Given the description of an element on the screen output the (x, y) to click on. 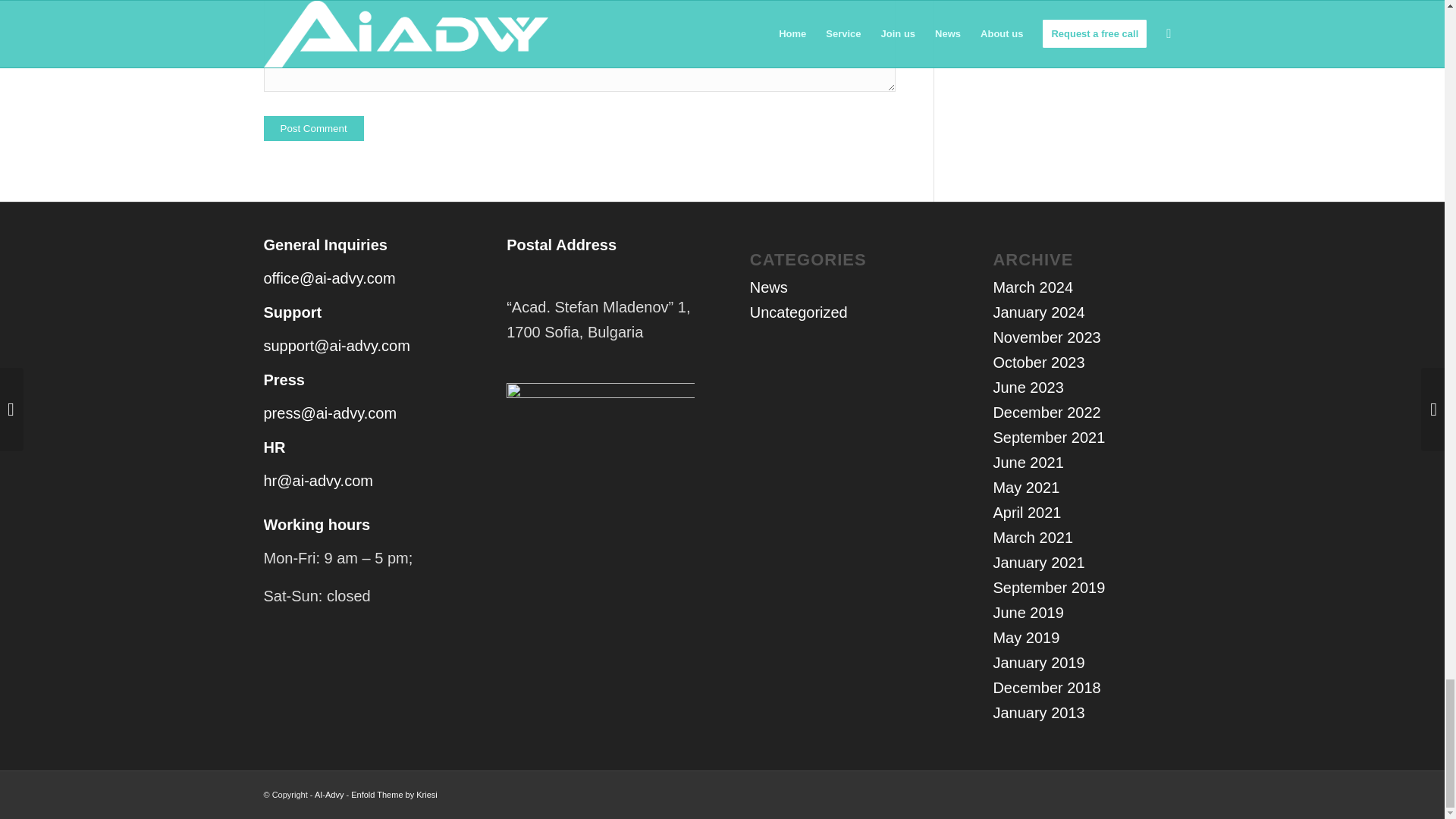
Post Comment (313, 128)
